Given the description of an element on the screen output the (x, y) to click on. 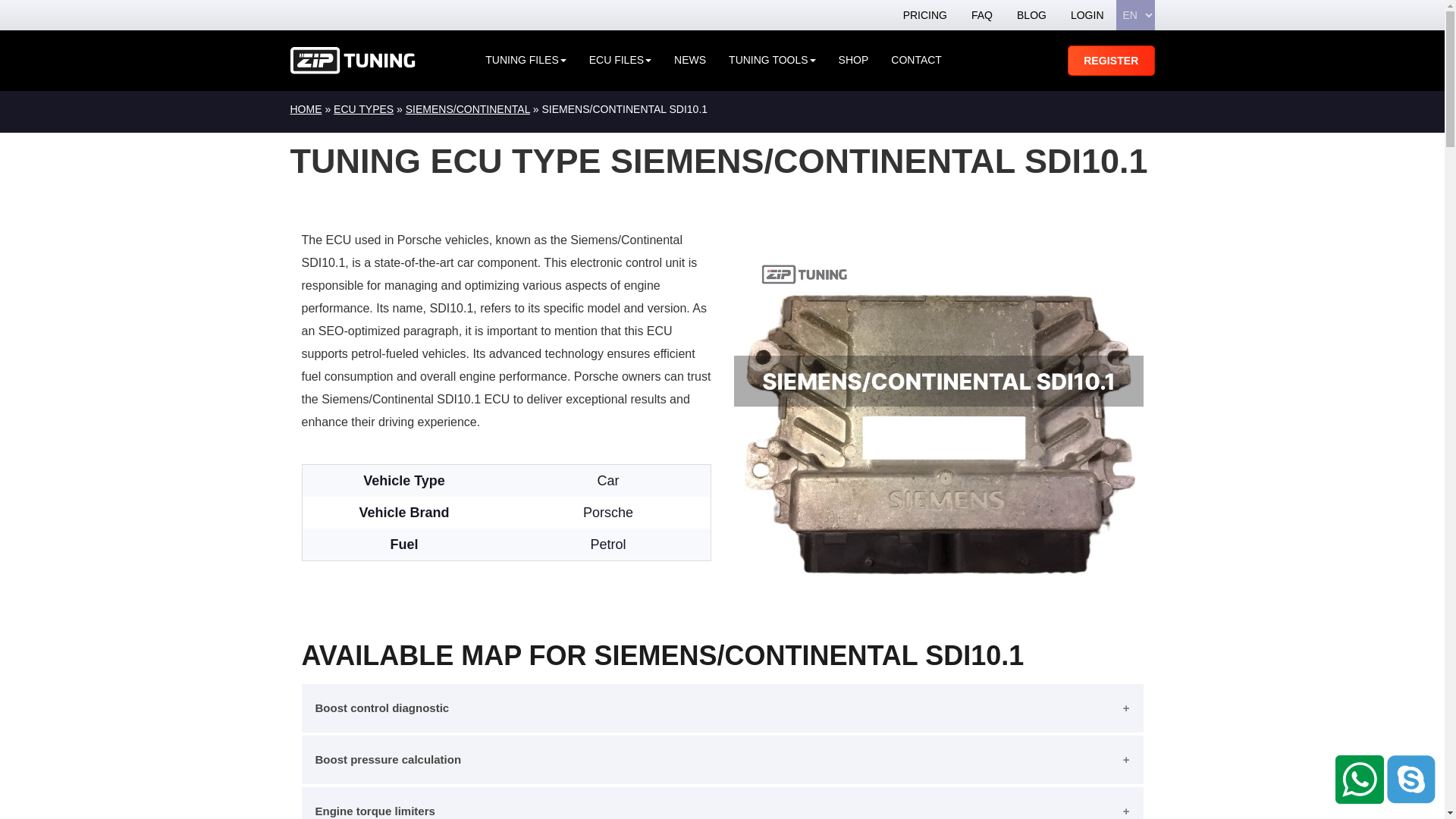
FAQ (981, 14)
LOGIN (1087, 14)
PRICING (925, 14)
ECU FILES (620, 60)
BLOG (1031, 14)
TUNING FILES (525, 60)
